Given the description of an element on the screen output the (x, y) to click on. 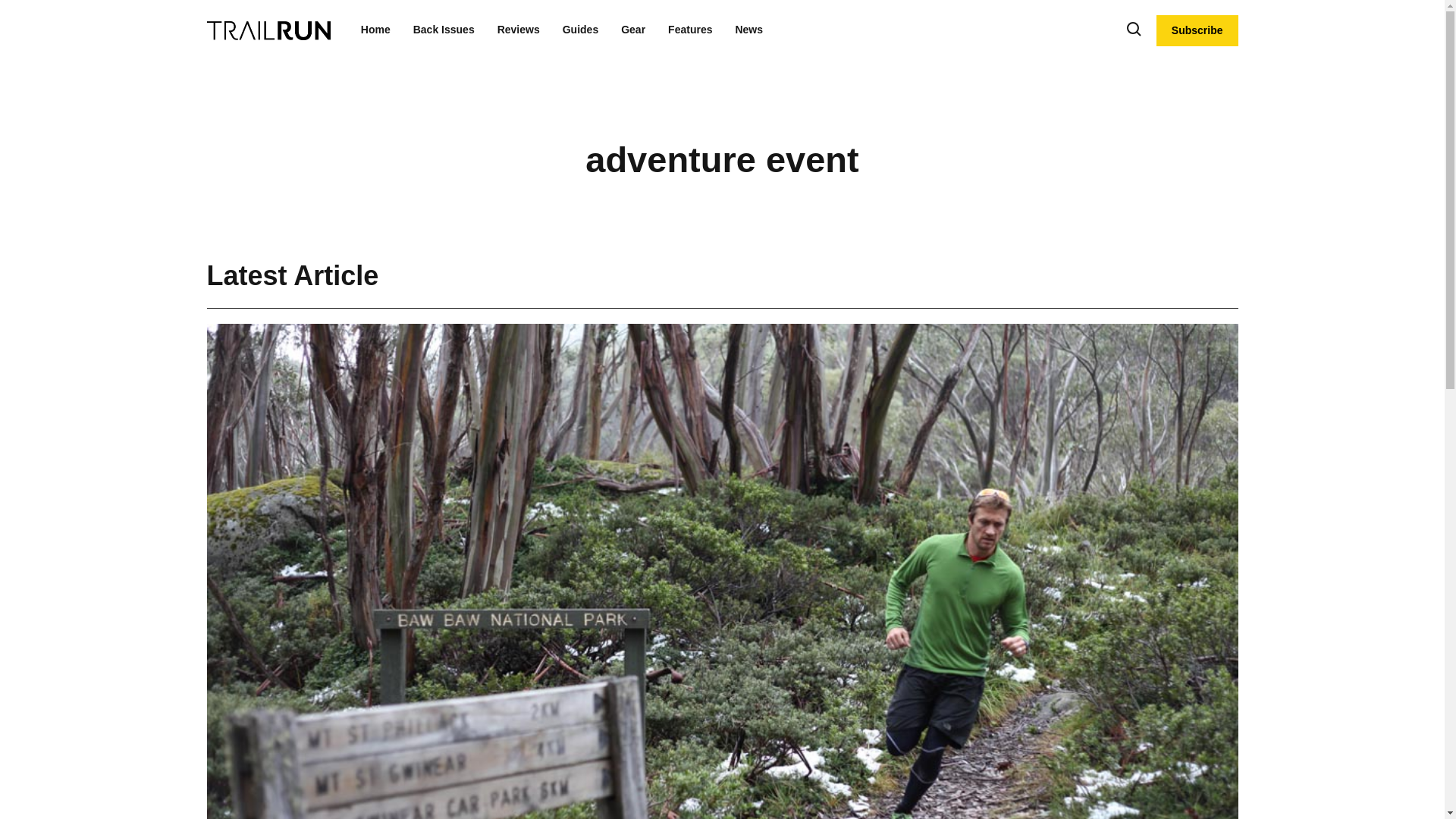
Home (375, 30)
Reviews (518, 30)
Features (689, 30)
News (748, 30)
Guides (580, 30)
Gear (633, 30)
Back Issues (443, 30)
Subscribe (1197, 30)
